Given the description of an element on the screen output the (x, y) to click on. 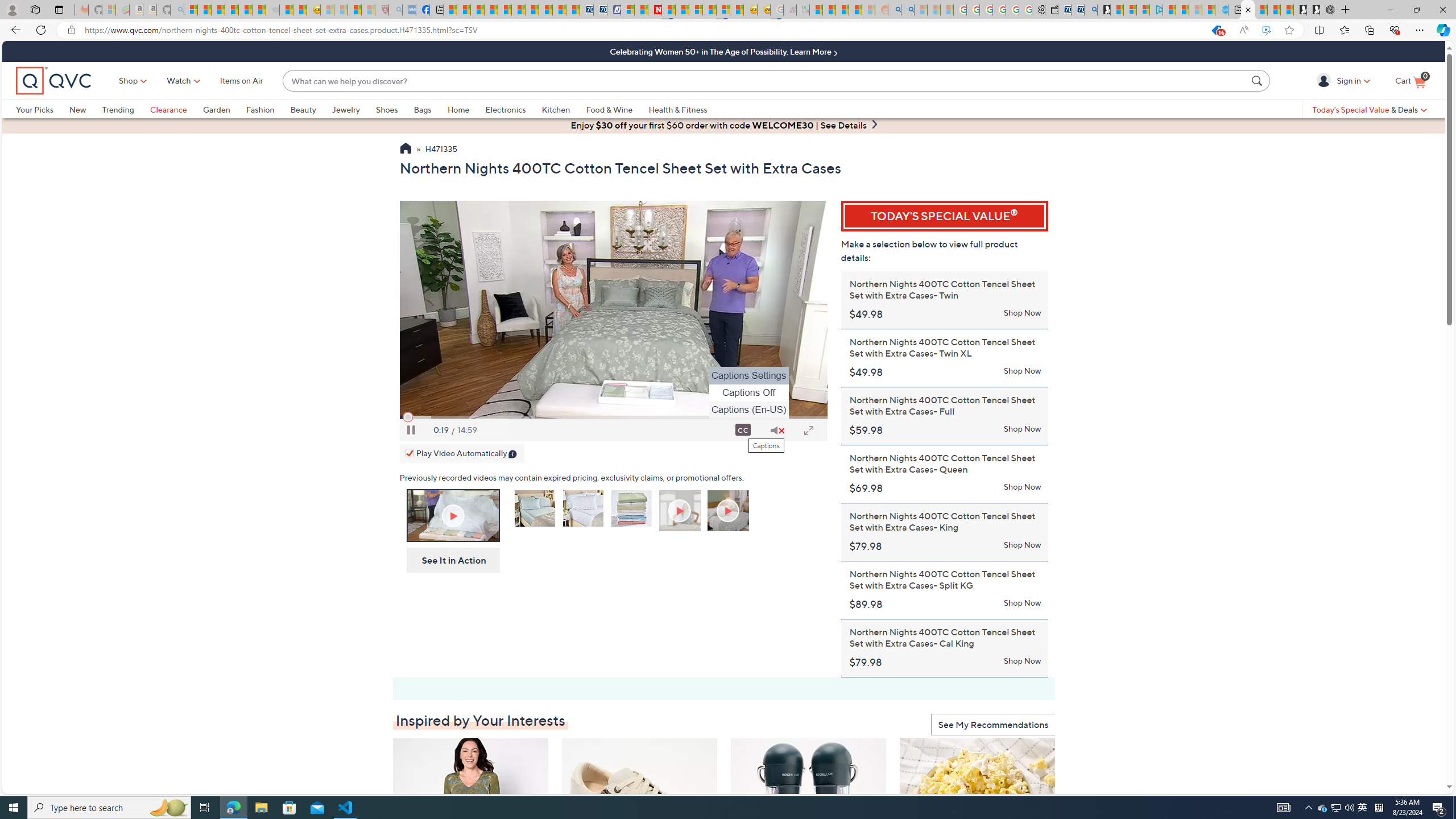
Today's Special Value & Deals (1369, 109)
Captions Off , Selected (749, 392)
Fashion (268, 109)
New (76, 109)
Shop (129, 80)
Captions Settings , Open Captions Settings Window (749, 375)
